Given the description of an element on the screen output the (x, y) to click on. 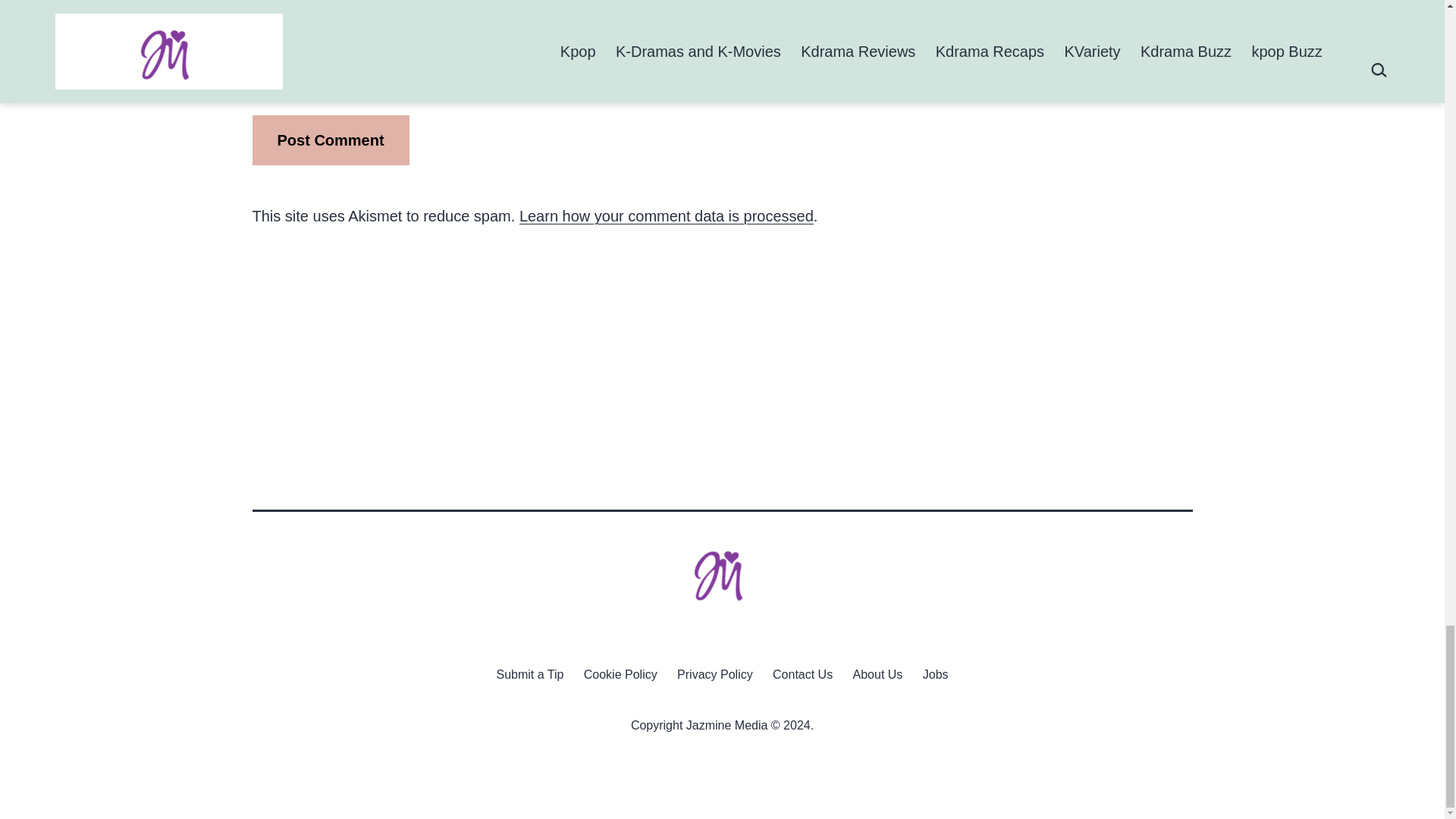
Cookie Policy (619, 673)
Learn how your comment data is processed (666, 216)
Post Comment (330, 140)
Post Comment (330, 140)
Submit a Tip (529, 673)
